Given the description of an element on the screen output the (x, y) to click on. 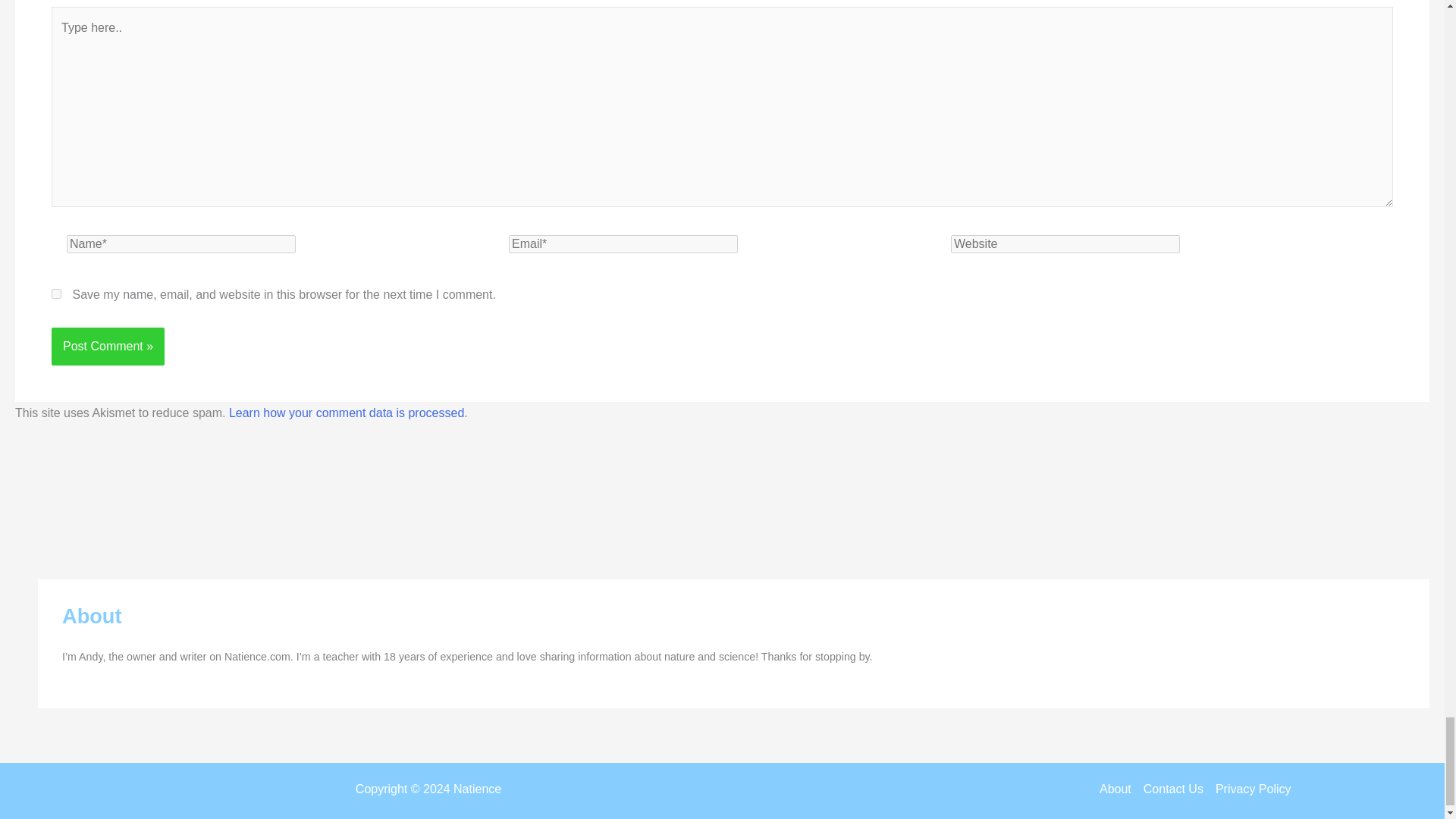
yes (55, 293)
